Given the description of an element on the screen output the (x, y) to click on. 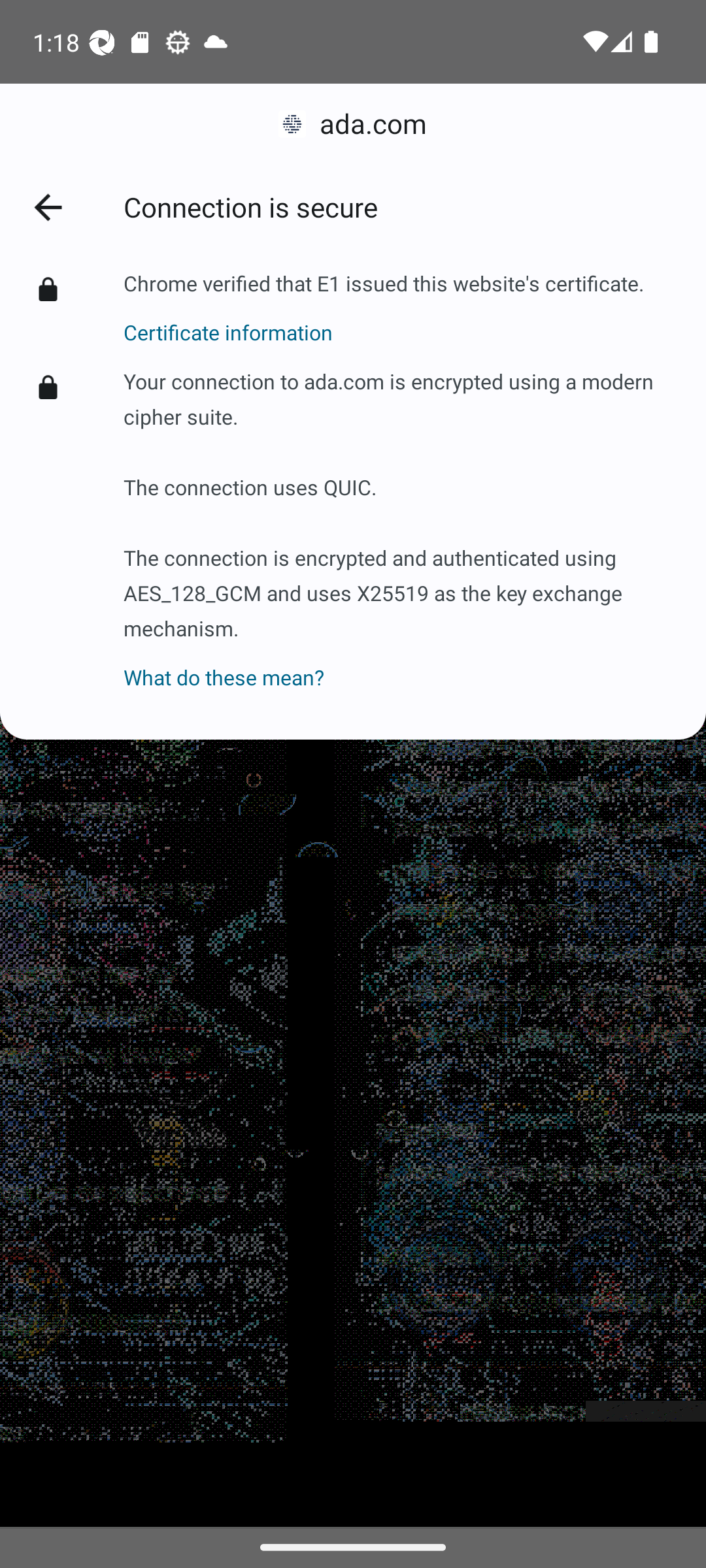
ada.com (353, 124)
Back (47, 206)
Certificate information (383, 321)
What do these mean? (400, 666)
